Given the description of an element on the screen output the (x, y) to click on. 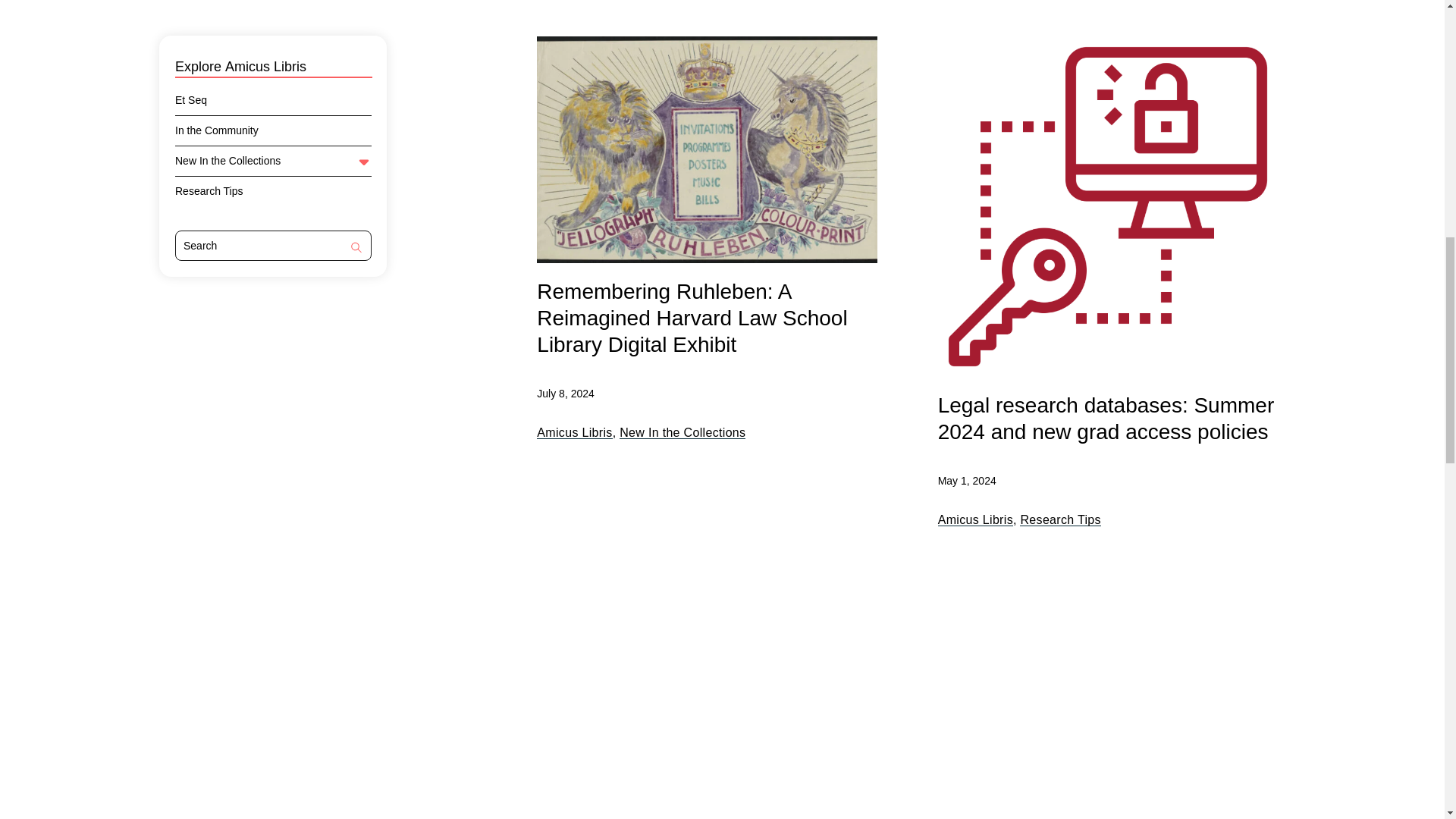
Search (356, 248)
